Given the description of an element on the screen output the (x, y) to click on. 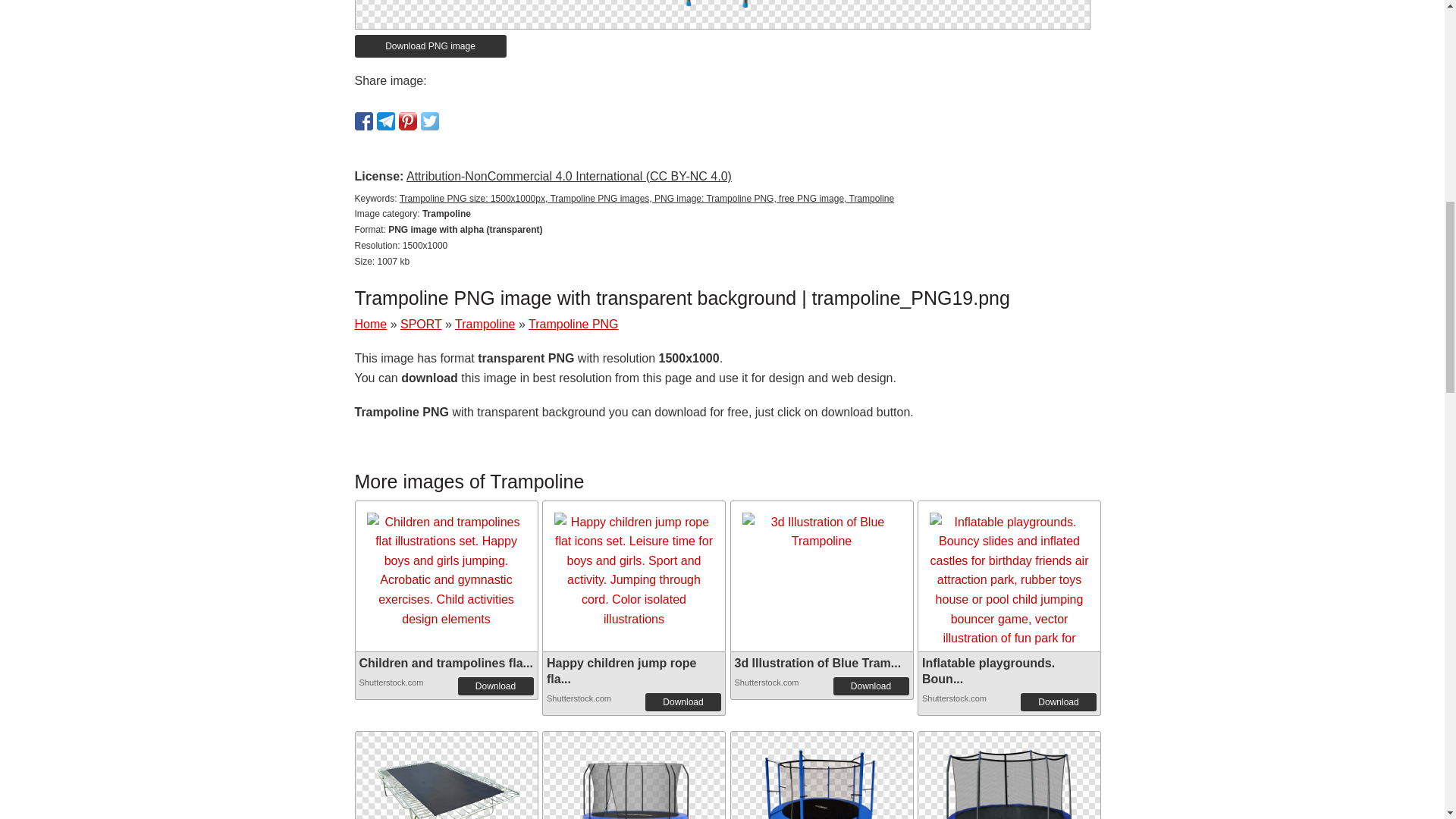
Trampoline PNG (821, 775)
Home (371, 323)
Download PNG image (430, 46)
Share in Telegram (384, 121)
Inflatable playgrounds. Boun... (987, 670)
Download (496, 686)
Happy children jump rope fla... (621, 670)
Share in Facebook (363, 121)
Download (682, 701)
SPORT (421, 323)
Trampoline PNG (821, 802)
Trampoline PNG (445, 775)
Trampoline PNG (633, 802)
